Given the description of an element on the screen output the (x, y) to click on. 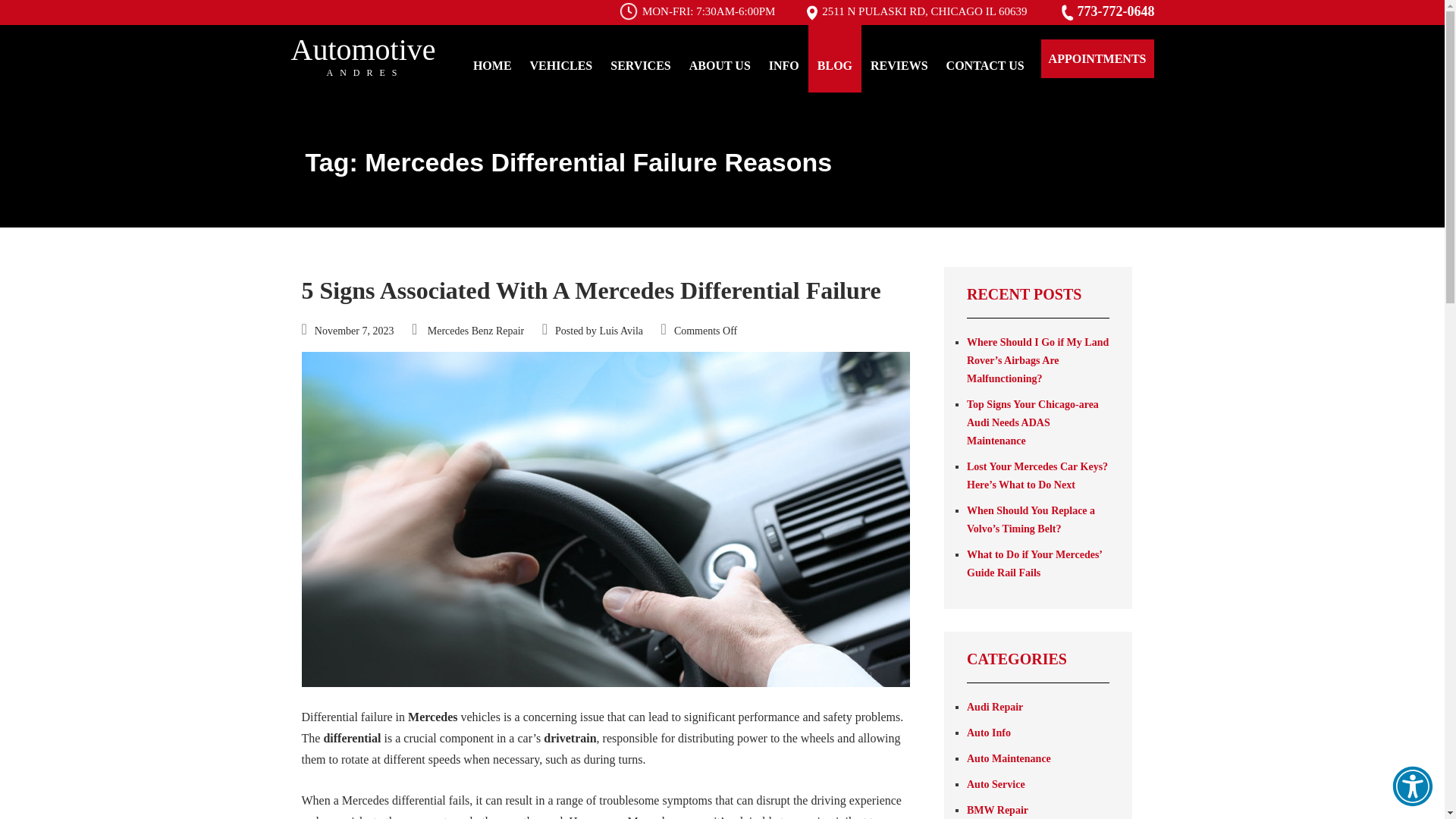
773-772-0648 (1106, 11)
ABOUT US (719, 58)
SERVICES (640, 58)
Posts by Luis Avila (620, 330)
2511 N PULASKI RD, CHICAGO IL 60639 (365, 55)
VEHICLES (916, 10)
